Given the description of an element on the screen output the (x, y) to click on. 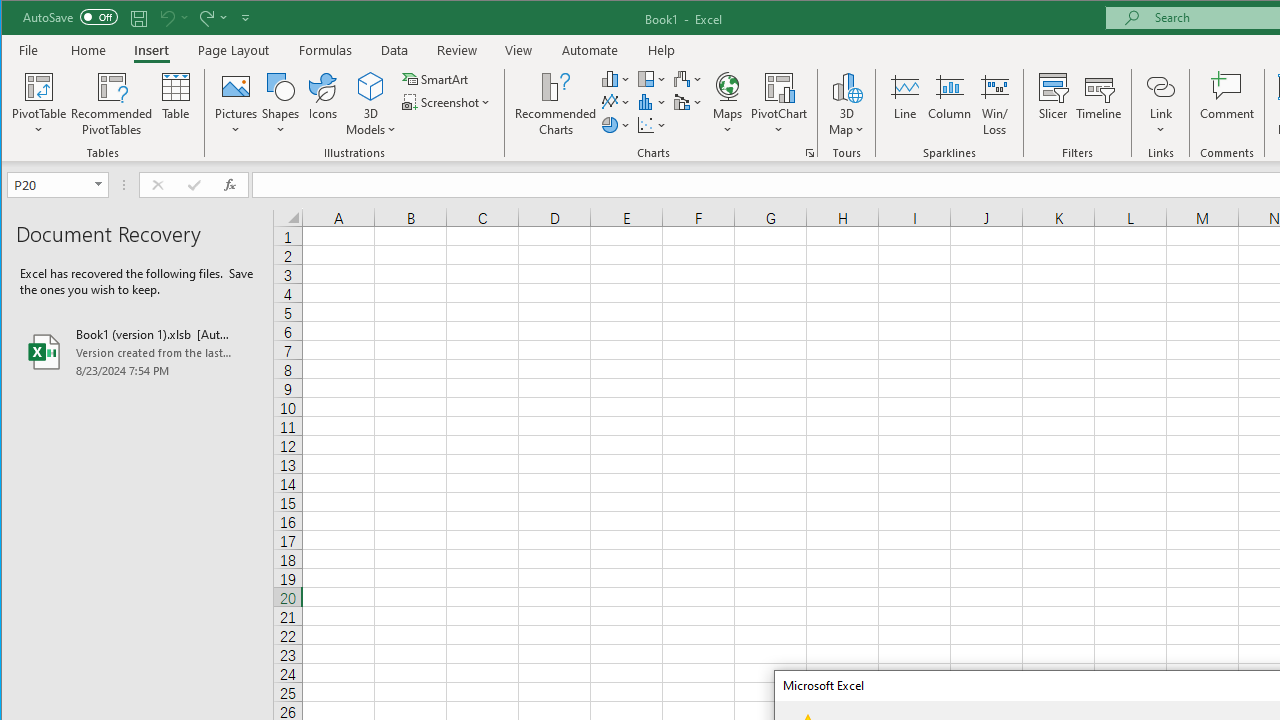
Pictures (235, 104)
Link (1160, 86)
3D Map (846, 86)
Insert Line or Area Chart (616, 101)
Screenshot (447, 101)
3D Map (846, 104)
